Given the description of an element on the screen output the (x, y) to click on. 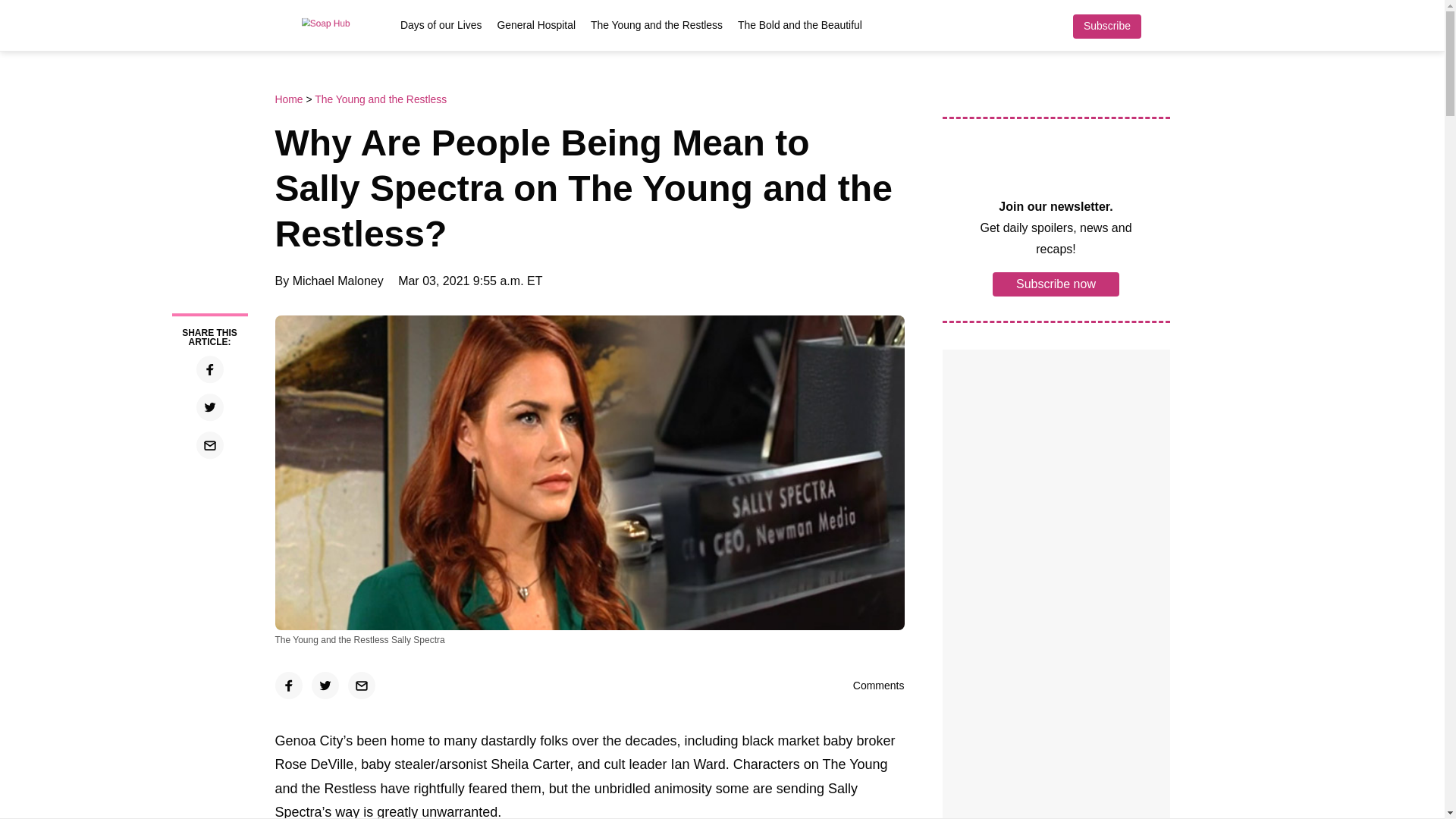
The Young and the Restless (656, 24)
Click to share on Twitter (324, 685)
Michael Maloney (338, 280)
Click to share on Twitter (208, 406)
Days of our Lives (441, 24)
Click to share on Facebook (288, 685)
Home (290, 99)
The Bold and the Beautiful (799, 24)
Search (1161, 26)
Subscribe (1105, 26)
